Given the description of an element on the screen output the (x, y) to click on. 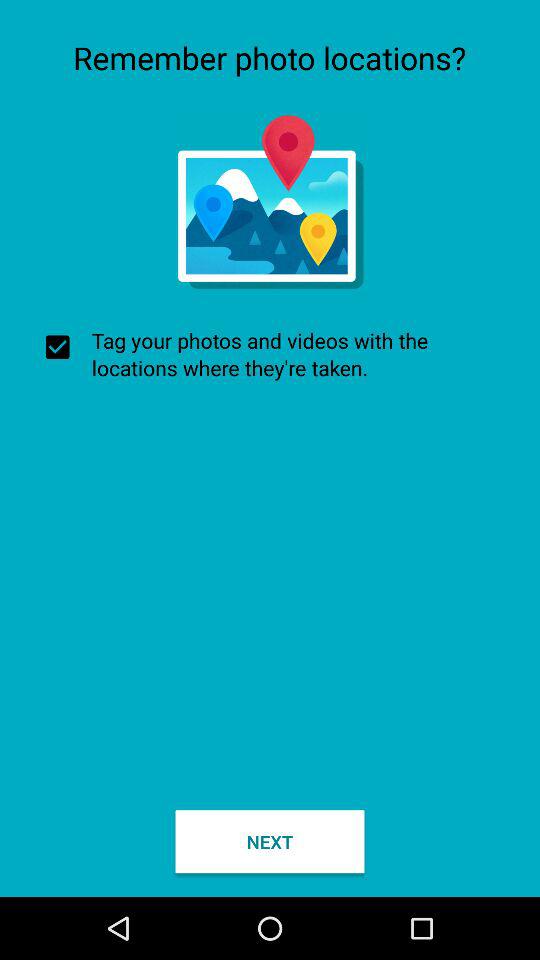
select tag your photos icon (269, 354)
